Given the description of an element on the screen output the (x, y) to click on. 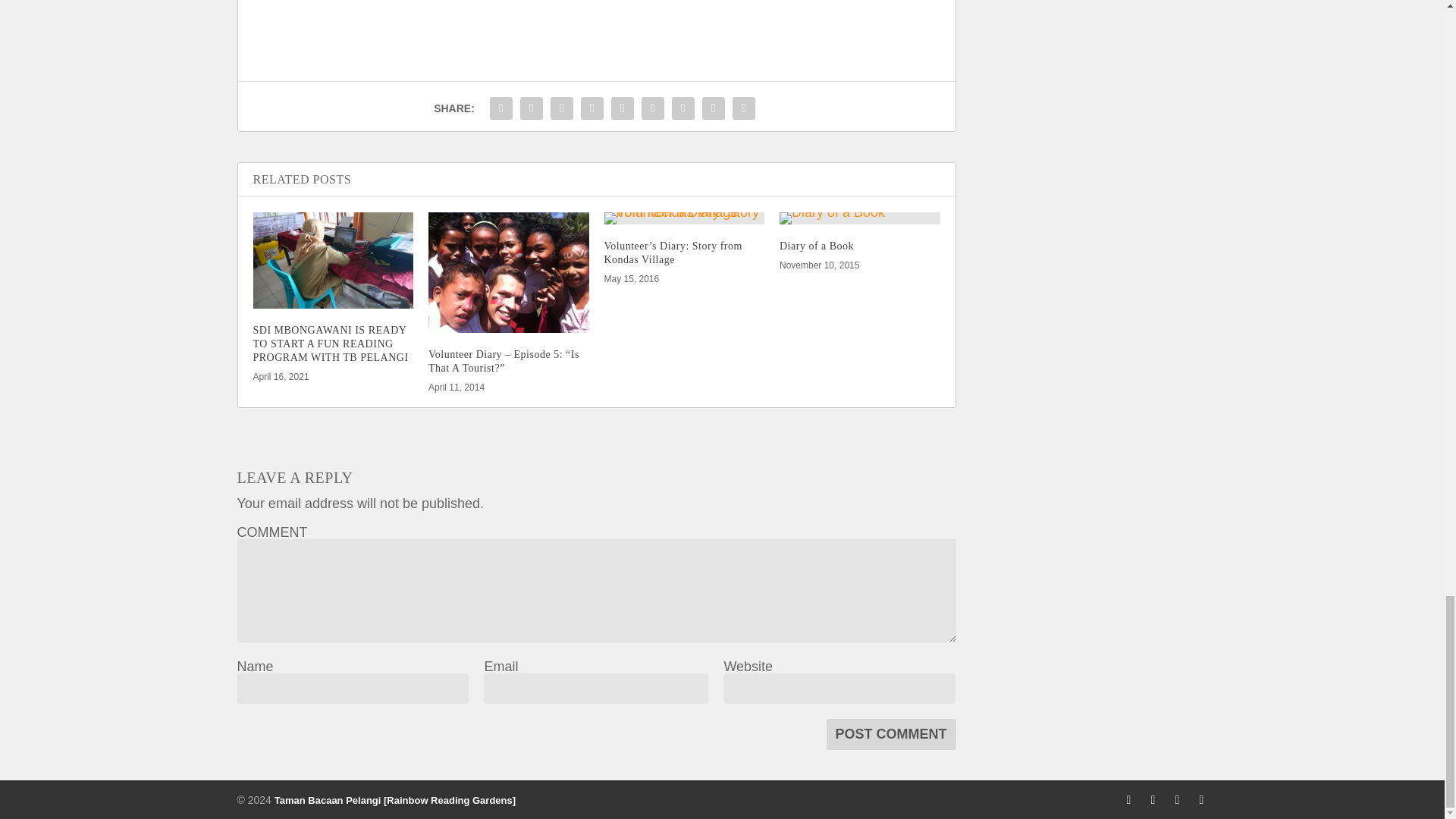
Share "A Library Belonging to All of Us" via Tumblr (591, 108)
Post Comment (891, 734)
Share "A Library Belonging to All of Us" via Email (713, 108)
Share "A Library Belonging to All of Us" via Pinterest (622, 108)
Share "A Library Belonging to All of Us" via Twitter (531, 108)
Share "A Library Belonging to All of Us" via Facebook (501, 108)
Diary of a Book (859, 218)
Share "A Library Belonging to All of Us" via Print (743, 108)
